Given the description of an element on the screen output the (x, y) to click on. 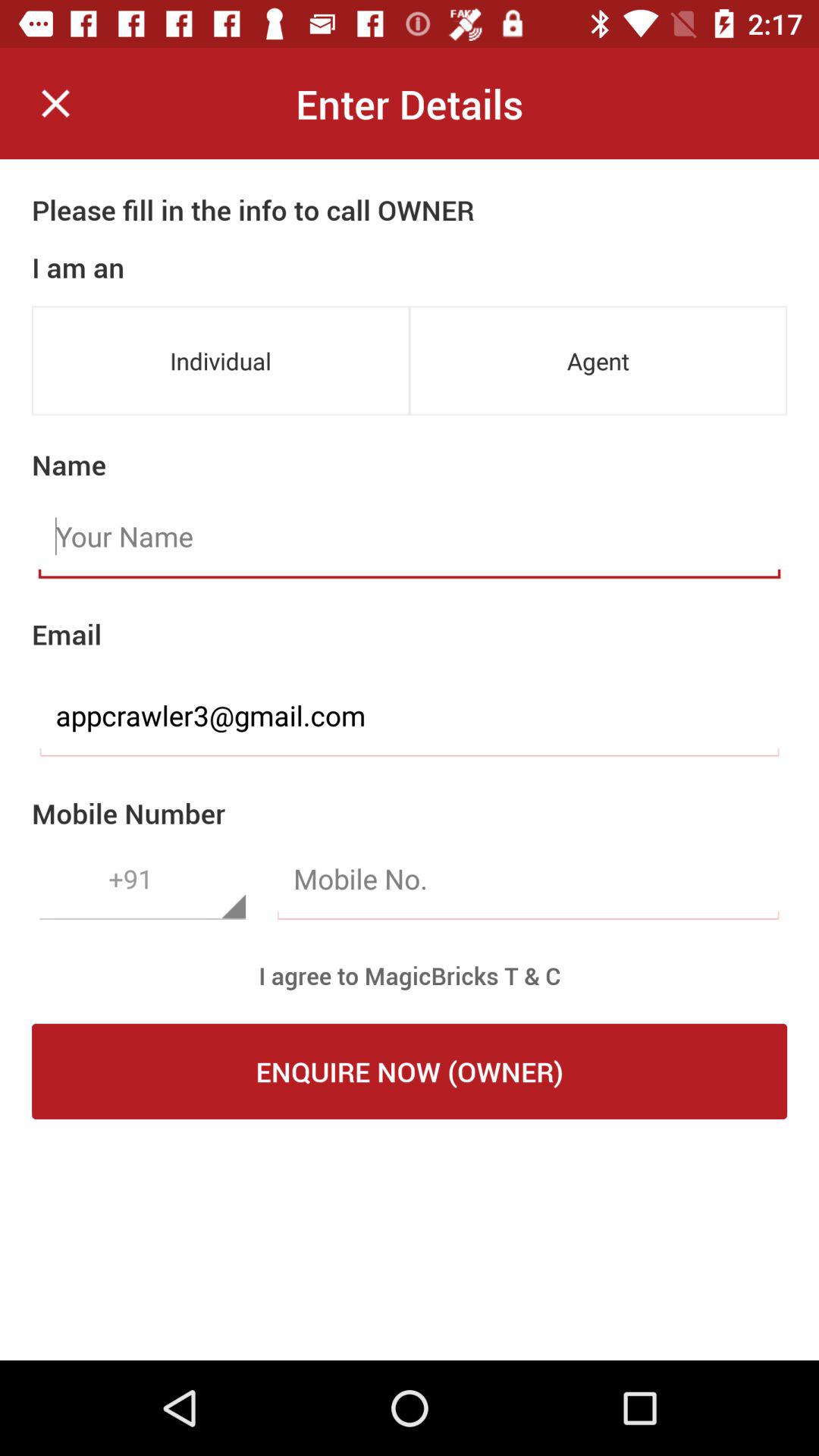
turn off icon next to the enter details item (55, 103)
